Given the description of an element on the screen output the (x, y) to click on. 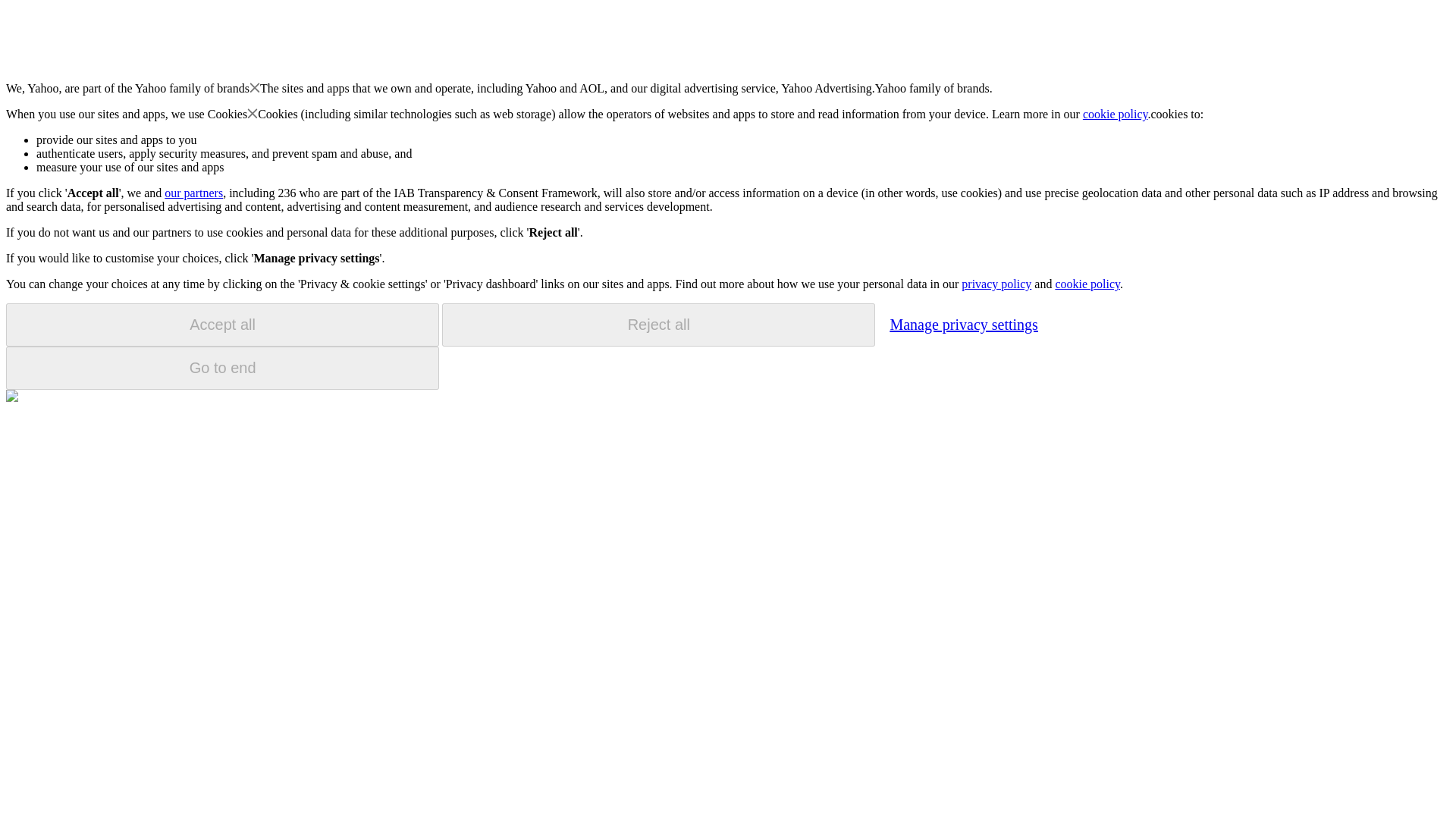
Reject all (658, 324)
cookie policy (1115, 113)
privacy policy (995, 283)
our partners (193, 192)
Go to end (222, 367)
Accept all (222, 324)
Manage privacy settings (963, 323)
cookie policy (1086, 283)
